Given the description of an element on the screen output the (x, y) to click on. 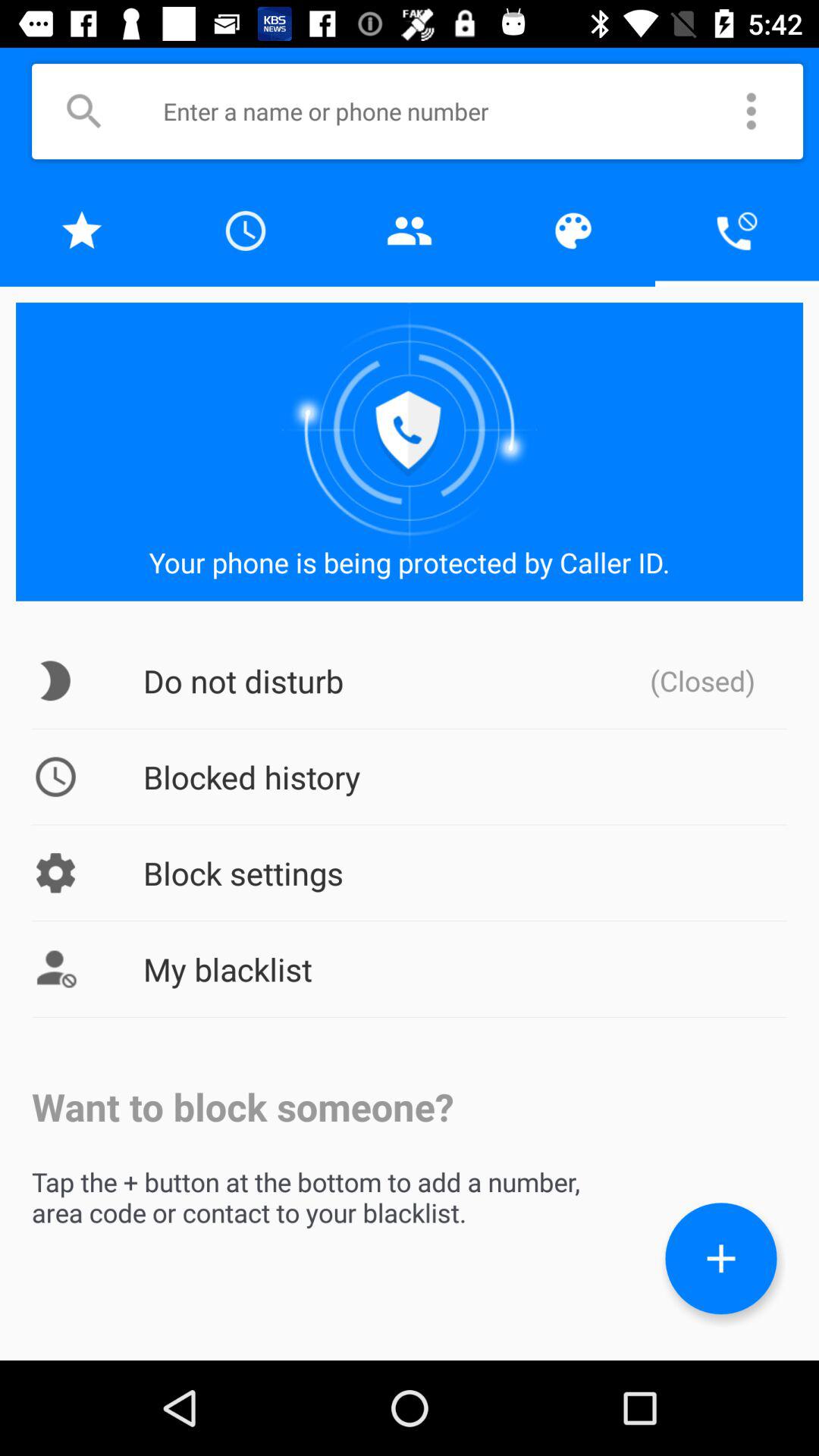
favorites (81, 230)
